Given the description of an element on the screen output the (x, y) to click on. 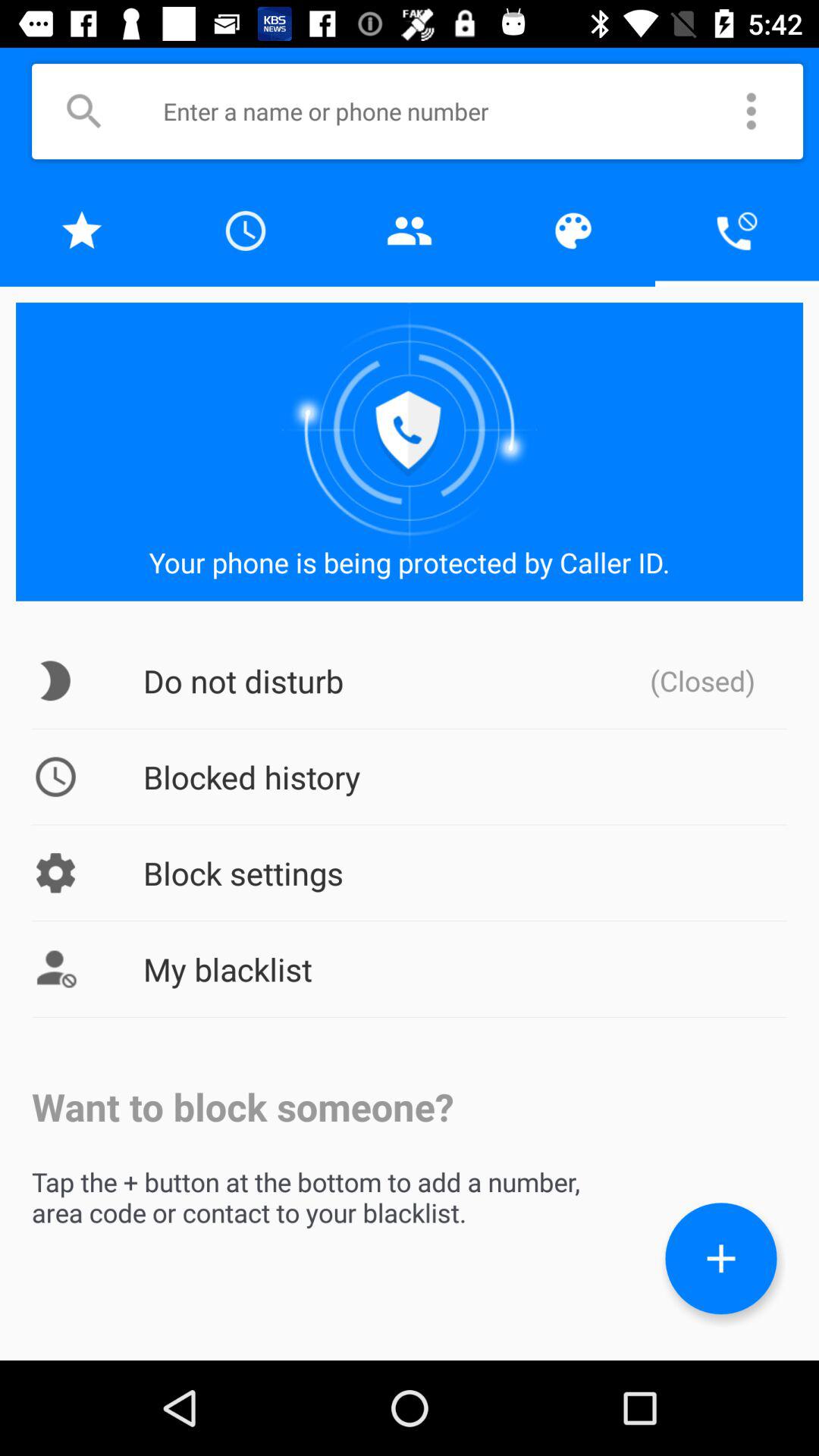
favorites (81, 230)
